Given the description of an element on the screen output the (x, y) to click on. 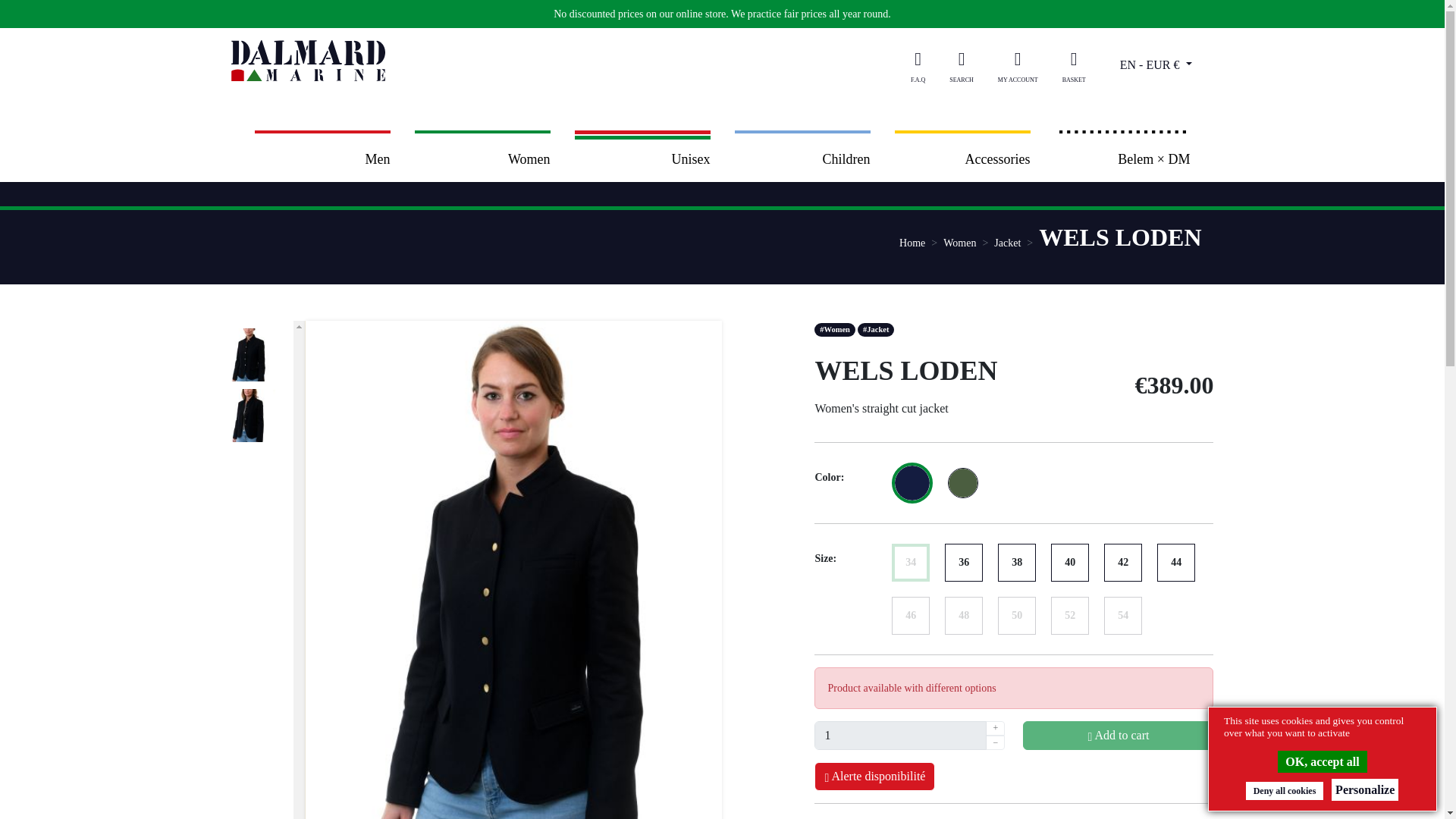
Women (481, 159)
La boutique Dalmard Marine (346, 60)
Unisex (642, 159)
Children (801, 159)
